Given the description of an element on the screen output the (x, y) to click on. 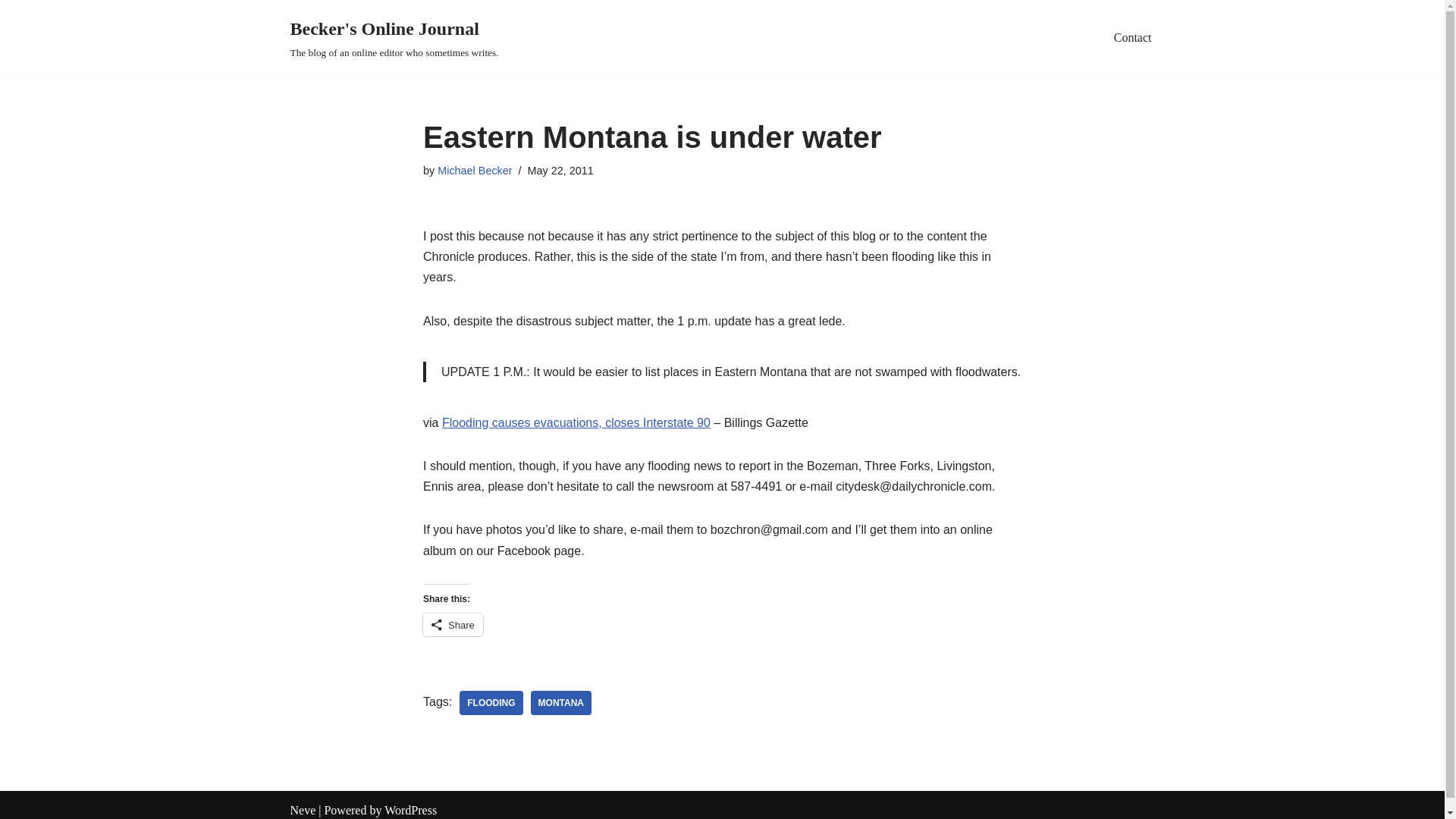
Michael Becker (475, 170)
FLOODING (491, 702)
Flooding causes evacuations, closes Interstate 90 (576, 422)
Posts by Michael Becker (475, 170)
flooding (491, 702)
Share (453, 624)
Contact (1132, 37)
Skip to content (11, 31)
Montana (561, 702)
